Given the description of an element on the screen output the (x, y) to click on. 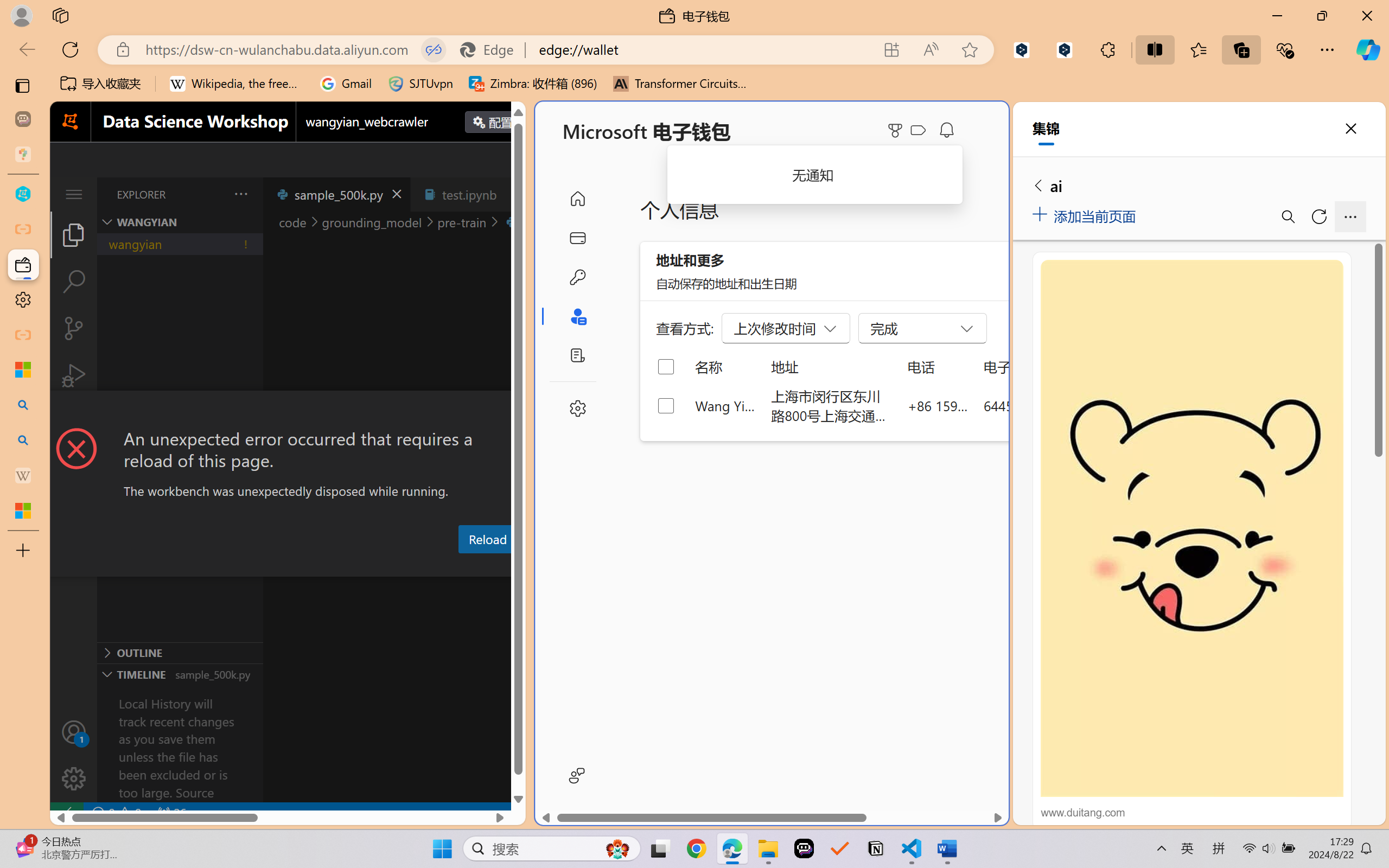
644553698@qq.com (1043, 405)
+86 159 0032 4640 (938, 405)
Close Dialog (520, 410)
Transformer Circuits Thread (680, 83)
